Given the description of an element on the screen output the (x, y) to click on. 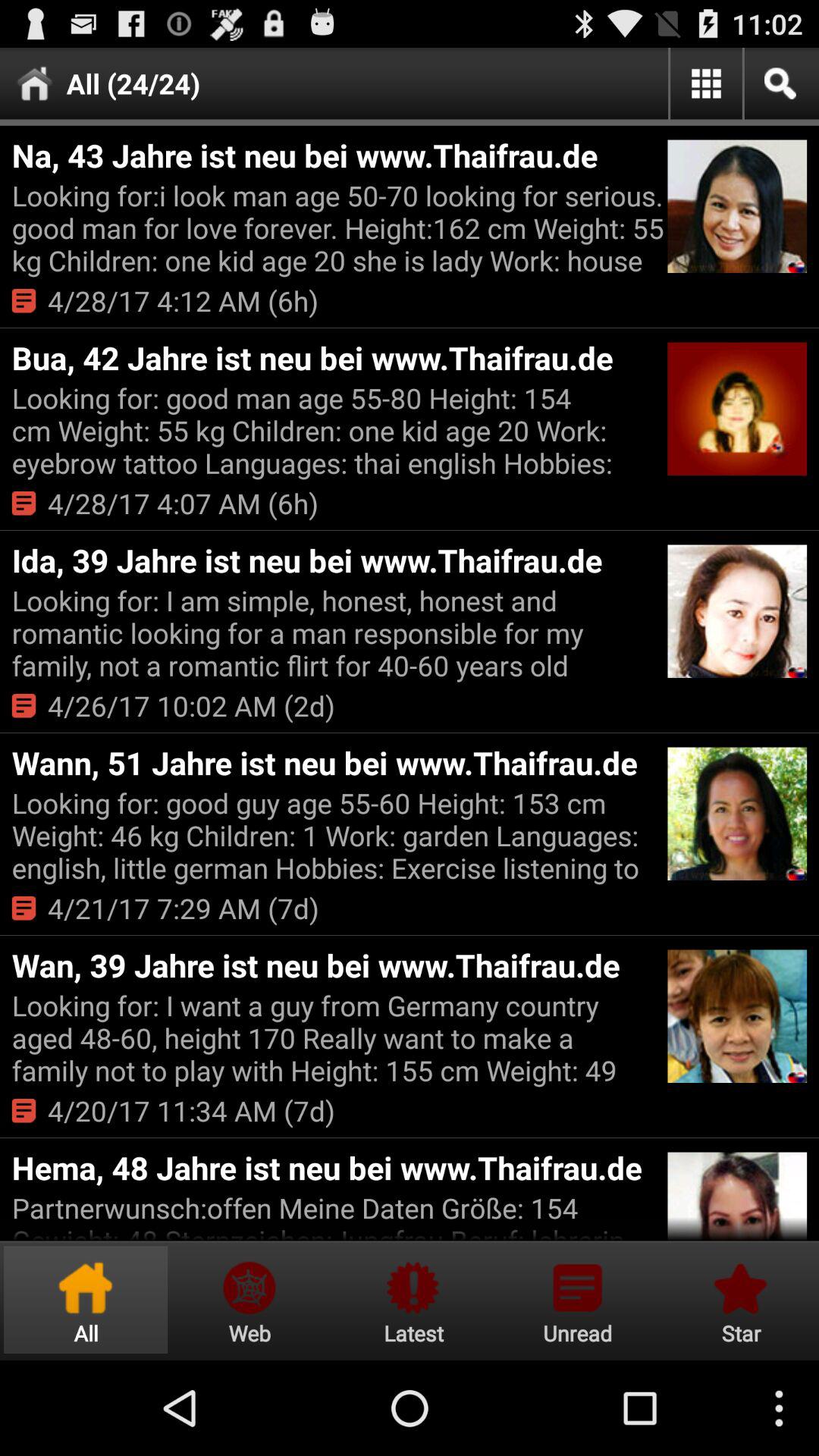
web (249, 1299)
